Given the description of an element on the screen output the (x, y) to click on. 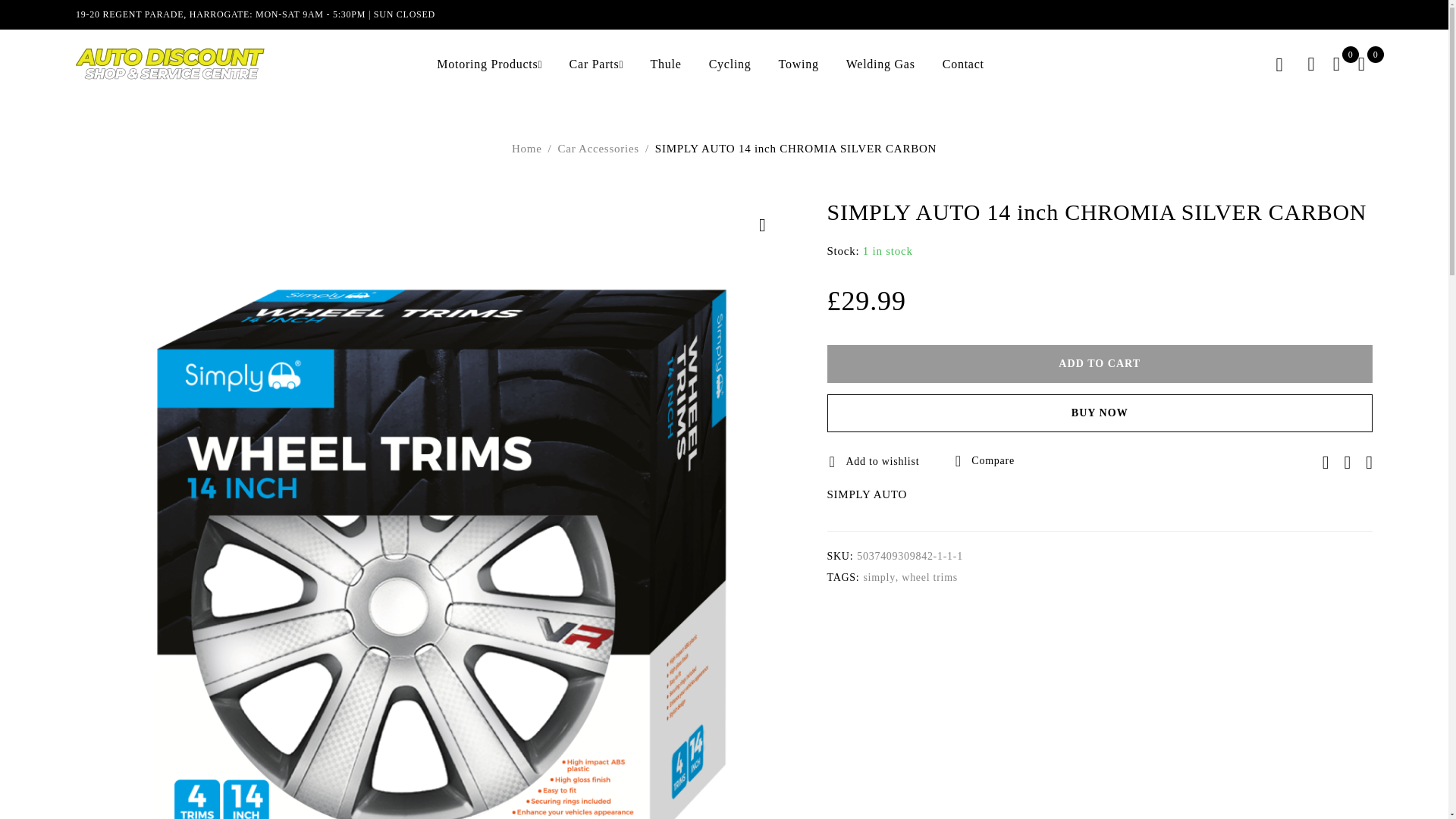
Welding Gas (880, 63)
Motoring Products (486, 63)
Auto Discount (169, 63)
Towing (798, 63)
Home (526, 148)
Cycling (730, 63)
Car Parts (594, 63)
View brand (867, 494)
Thule (665, 63)
Contact (963, 63)
Car Accessories (598, 148)
